Given the description of an element on the screen output the (x, y) to click on. 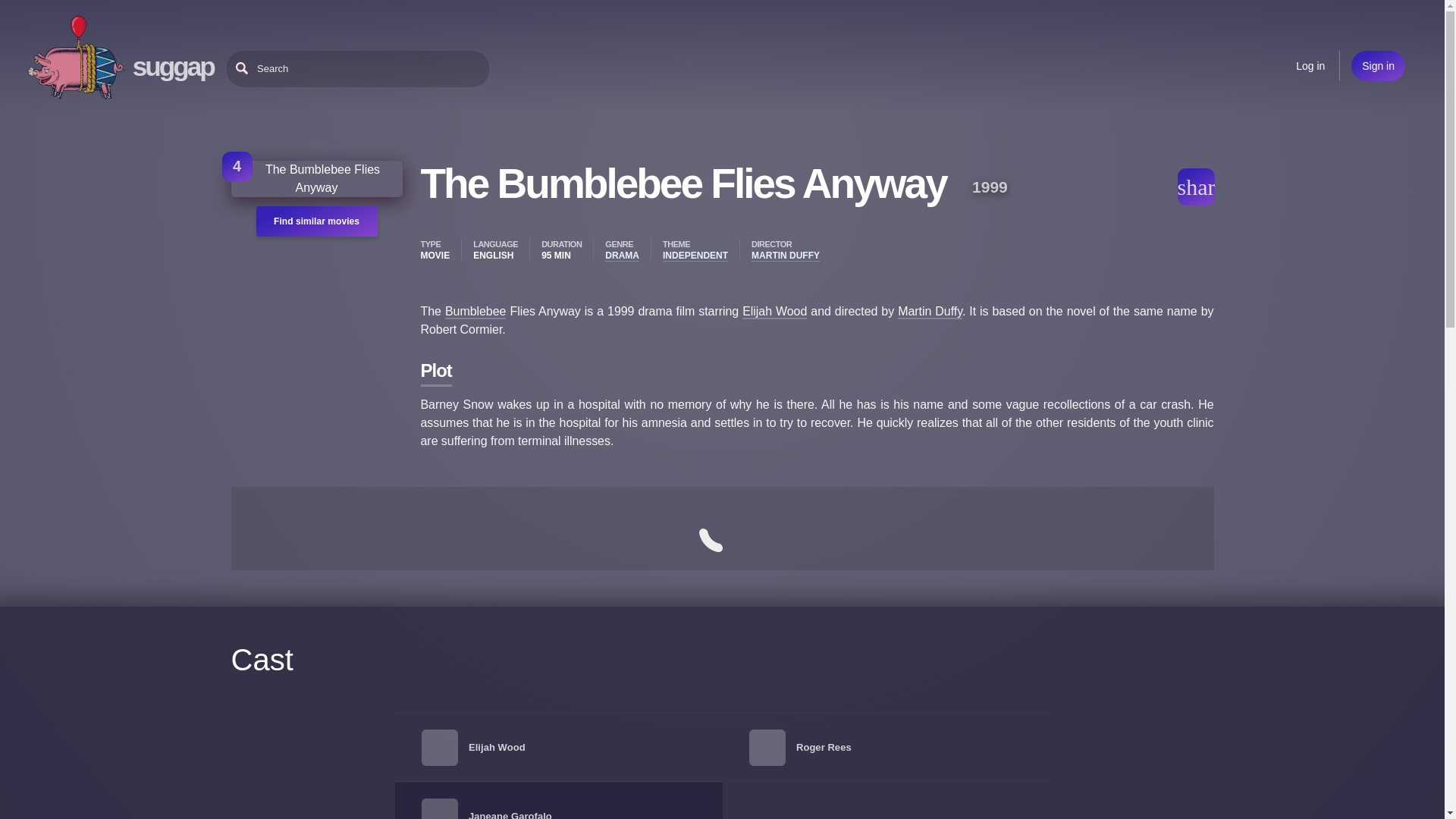
DRAMA (622, 255)
share (1195, 186)
Martin Duffy (930, 311)
MARTIN DUFFY (785, 255)
Sign in (1378, 65)
Bumblebee (475, 311)
Oink, oink... (76, 57)
Log in (1309, 65)
Janeane Garofalo (509, 814)
Share (1195, 186)
